Given the description of an element on the screen output the (x, y) to click on. 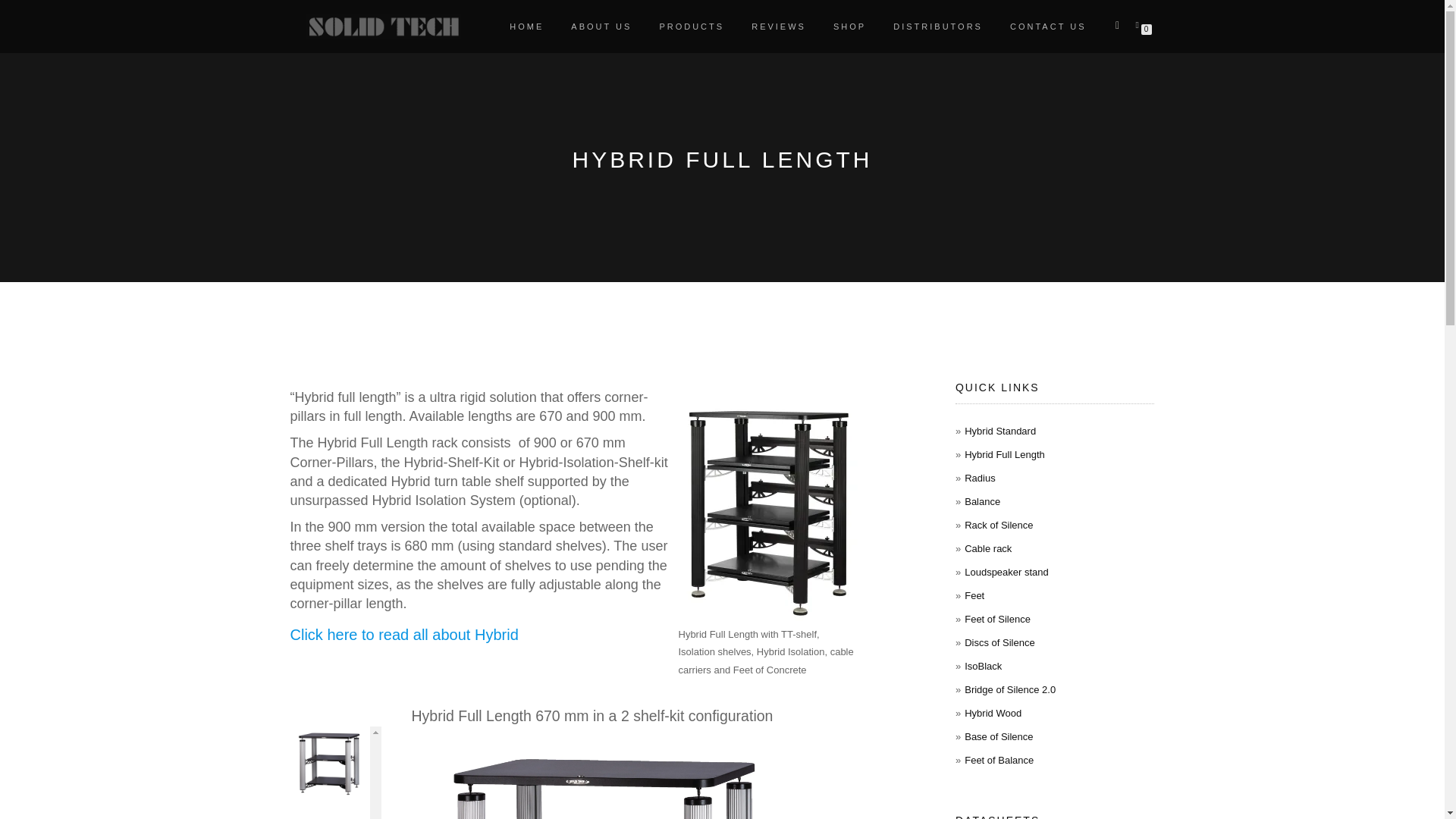
CONTACT US (1047, 26)
0 (1139, 23)
View your shopping cart (1139, 23)
SHOP (849, 26)
ABOUT US (601, 26)
DISTRIBUTORS (938, 26)
PRODUCTS (691, 26)
REVIEWS (777, 26)
Click here to read all about Hybrid (403, 634)
HOME (525, 26)
